Given the description of an element on the screen output the (x, y) to click on. 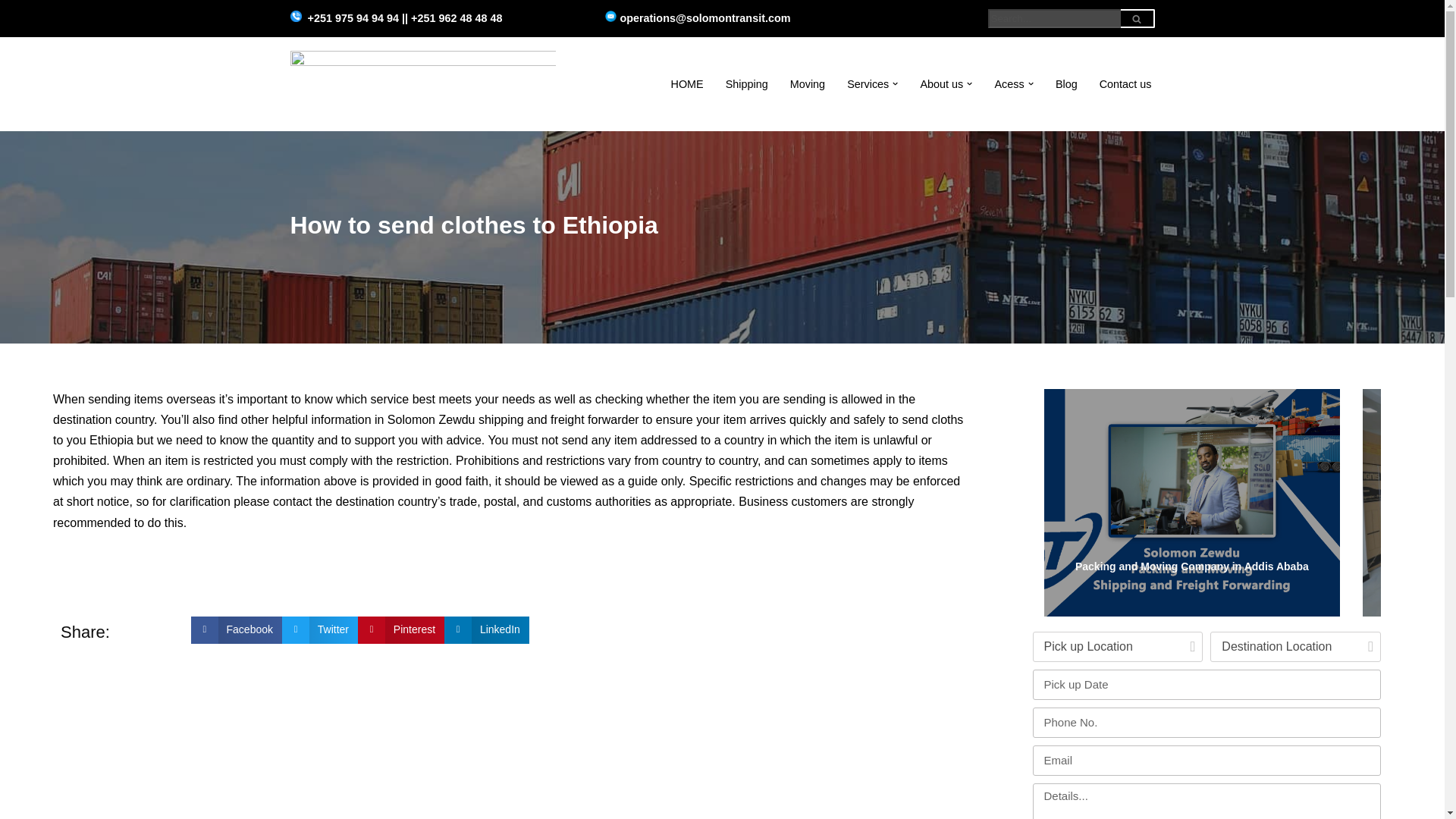
Acess (1009, 83)
Contact us (1125, 83)
Moving (807, 83)
Blog (1066, 83)
About us (941, 83)
Skip to content (11, 31)
HOME (687, 83)
Services (867, 83)
Shipping (746, 83)
